Given the description of an element on the screen output the (x, y) to click on. 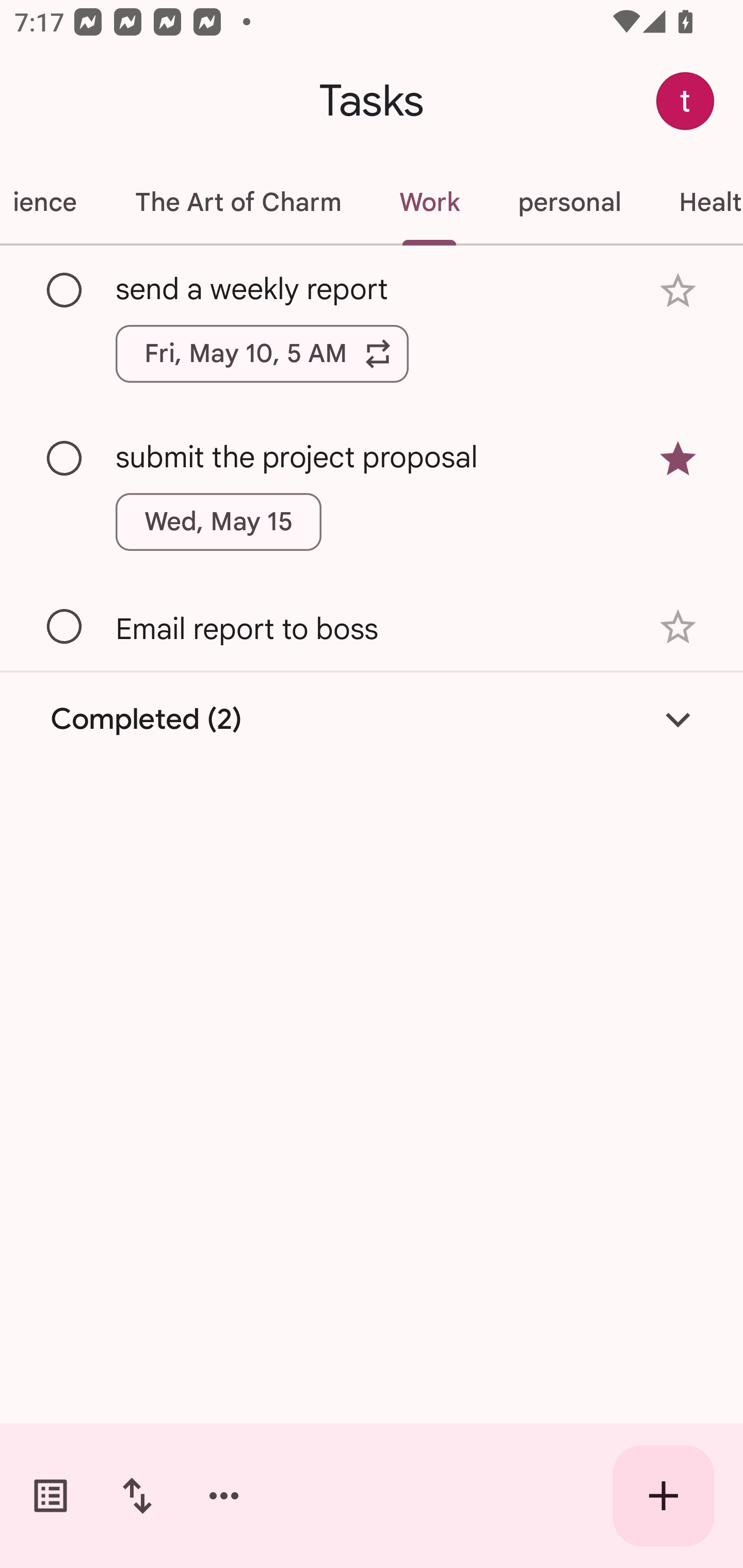
The Joe Rogan Experience (52, 202)
The Art of Charm (237, 202)
personal (568, 202)
Health (696, 202)
Add star (677, 290)
Mark as complete (64, 290)
Fri, May 10, 5 AM (261, 353)
Remove star (677, 458)
Mark as complete (64, 459)
Wed, May 15 (218, 522)
Add star (677, 627)
Mark as complete (64, 627)
Completed (2) (371, 719)
Switch task lists (50, 1495)
Create new task (663, 1495)
Change sort order (136, 1495)
More options (223, 1495)
